Given the description of an element on the screen output the (x, y) to click on. 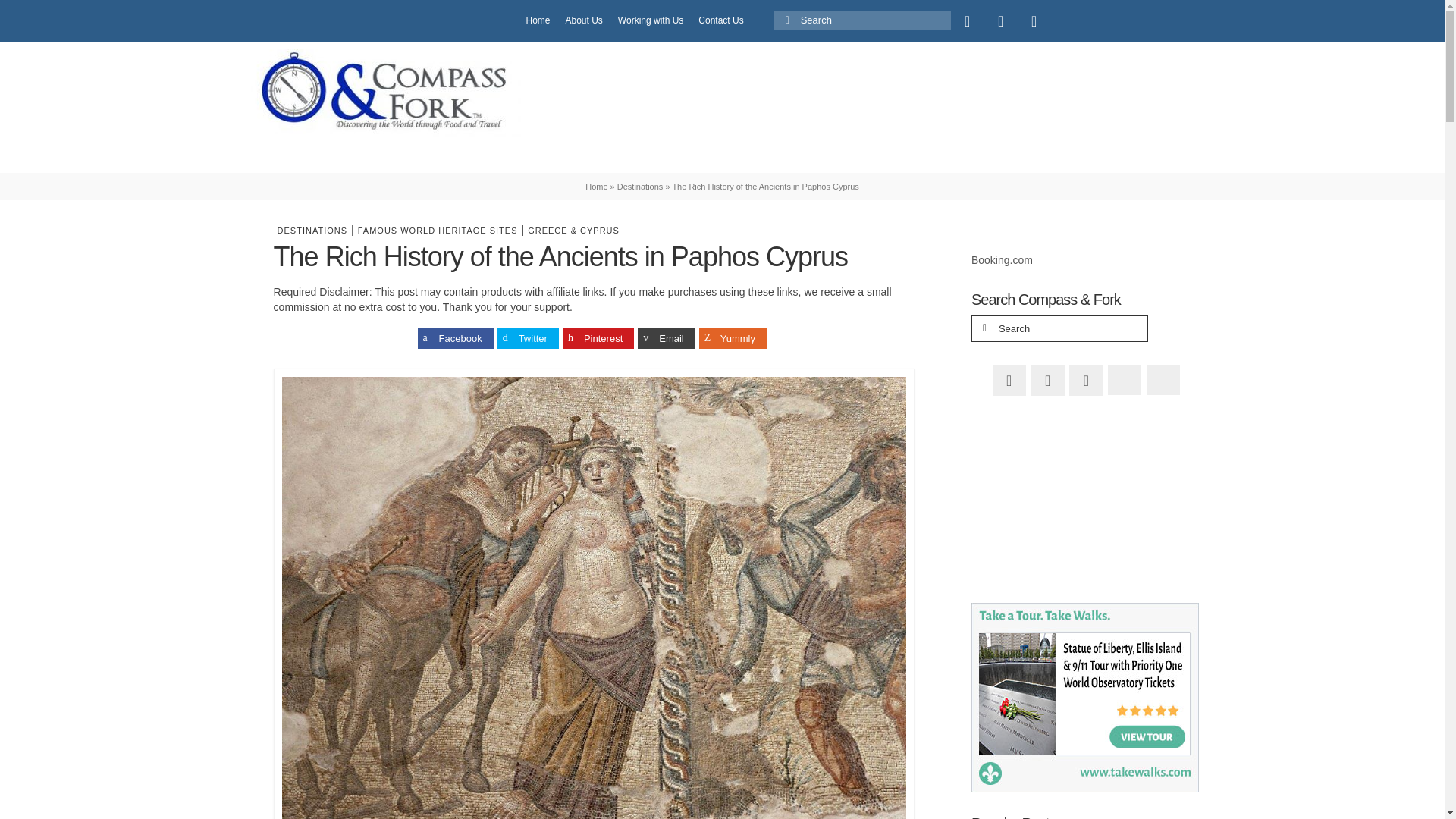
Share on Pinterest (597, 337)
Share on Yummly (732, 337)
Share on Twitter (528, 337)
Share on Email (666, 337)
Instagram (1034, 20)
About Us (583, 20)
Facebook (967, 20)
Tumblr (1101, 20)
Working with Us (650, 20)
Share on Facebook (455, 337)
